Given the description of an element on the screen output the (x, y) to click on. 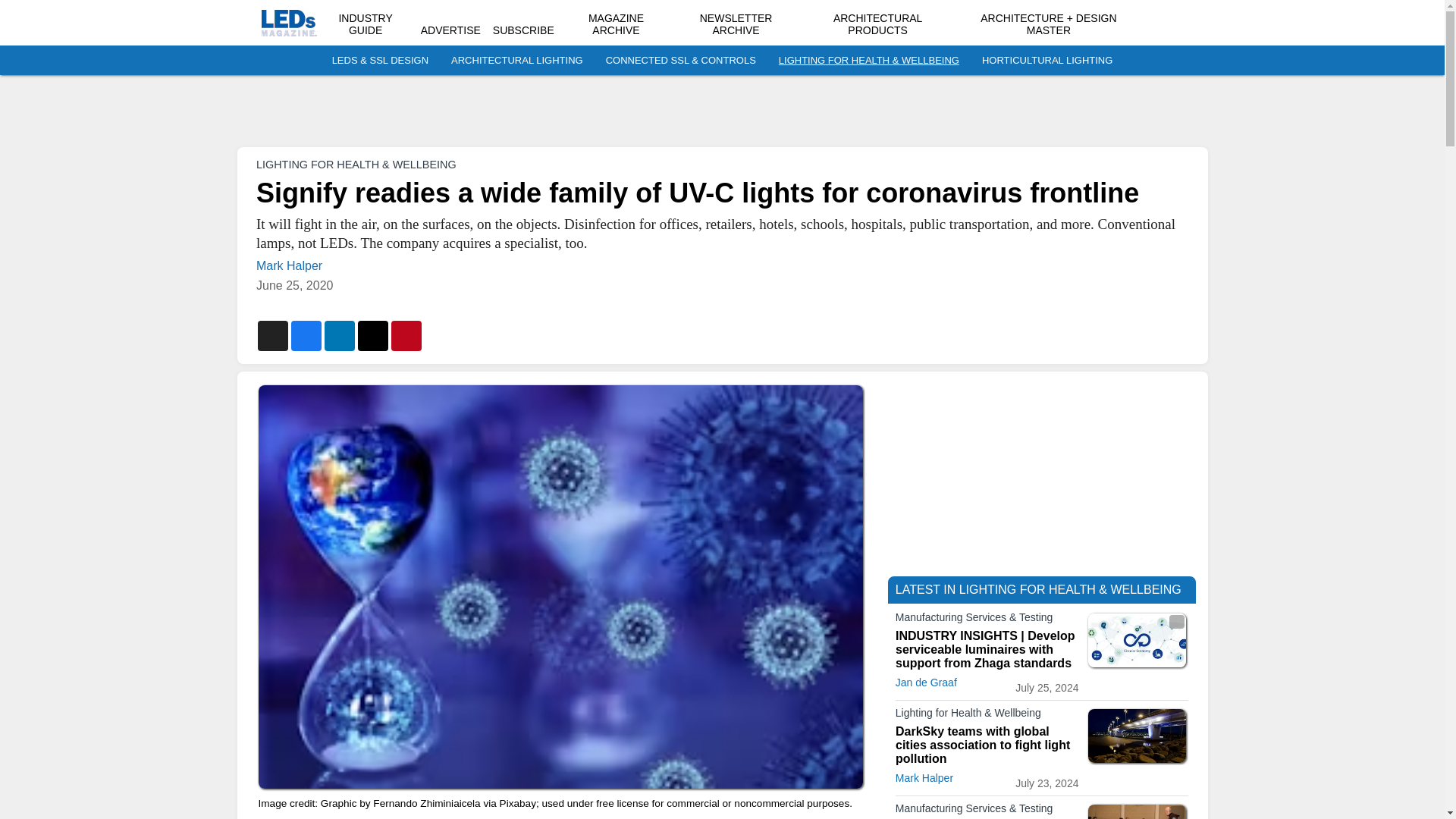
INDUSTRY GUIDE (364, 24)
ARCHITECTURAL PRODUCTS (876, 24)
HORTICULTURAL LIGHTING (1046, 60)
ARCHITECTURAL LIGHTING (517, 60)
ADVERTISE (450, 30)
NEWSLETTER ARCHIVE (736, 24)
SUBSCRIBE (523, 30)
Mark Halper (288, 265)
MAGAZINE ARCHIVE (615, 24)
Jan de Graaf (925, 682)
